Given the description of an element on the screen output the (x, y) to click on. 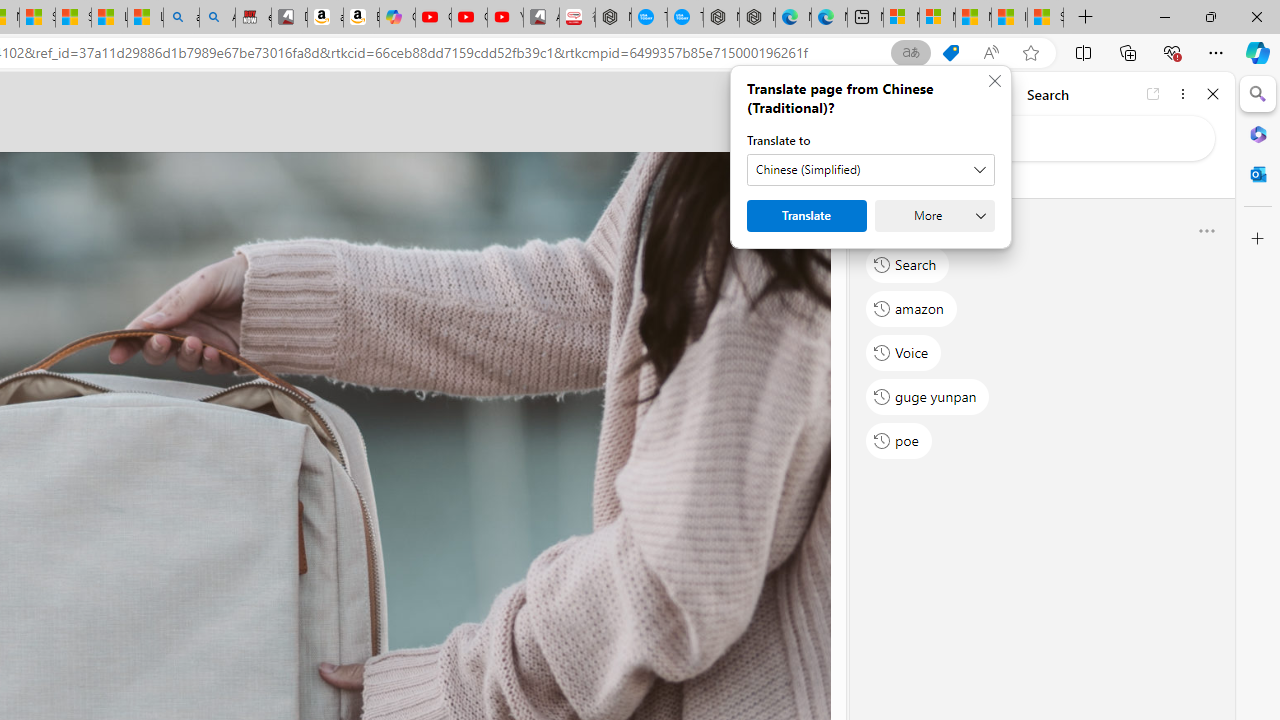
Recent searchesSearchamazonVoiceguge yunpanpoe (1042, 342)
The most popular Google 'how to' searches (685, 17)
Translate to (870, 169)
Copilot (397, 17)
guge yunpan (927, 396)
This site scope (936, 180)
Show translate options (910, 53)
Home (938, 93)
